Given the description of an element on the screen output the (x, y) to click on. 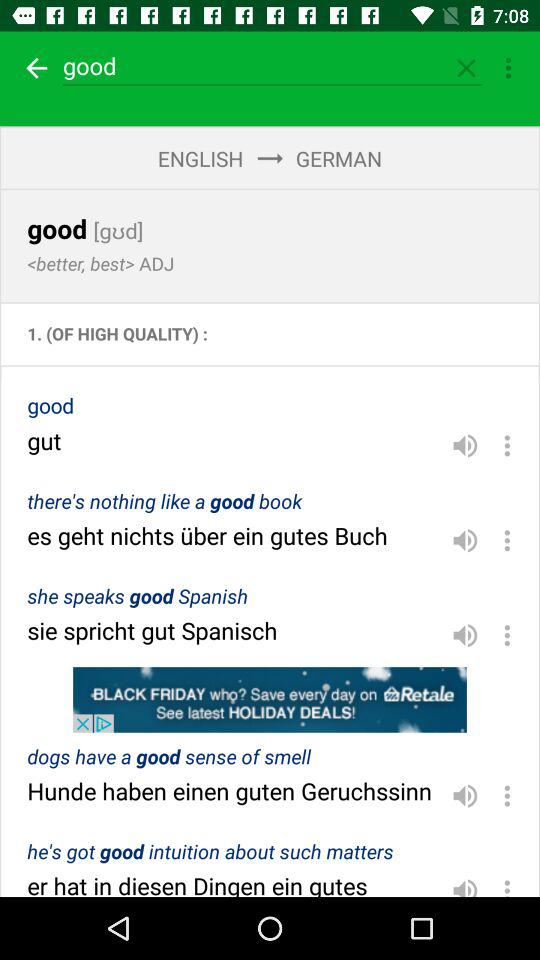
click on the text field at the top of the page (272, 66)
click on icon on the right side of theres nothing like a good book (464, 540)
click on three vertical dots which is in the field sie spricht gut spanisch (507, 635)
click on the second volume icon (464, 540)
